Given the description of an element on the screen output the (x, y) to click on. 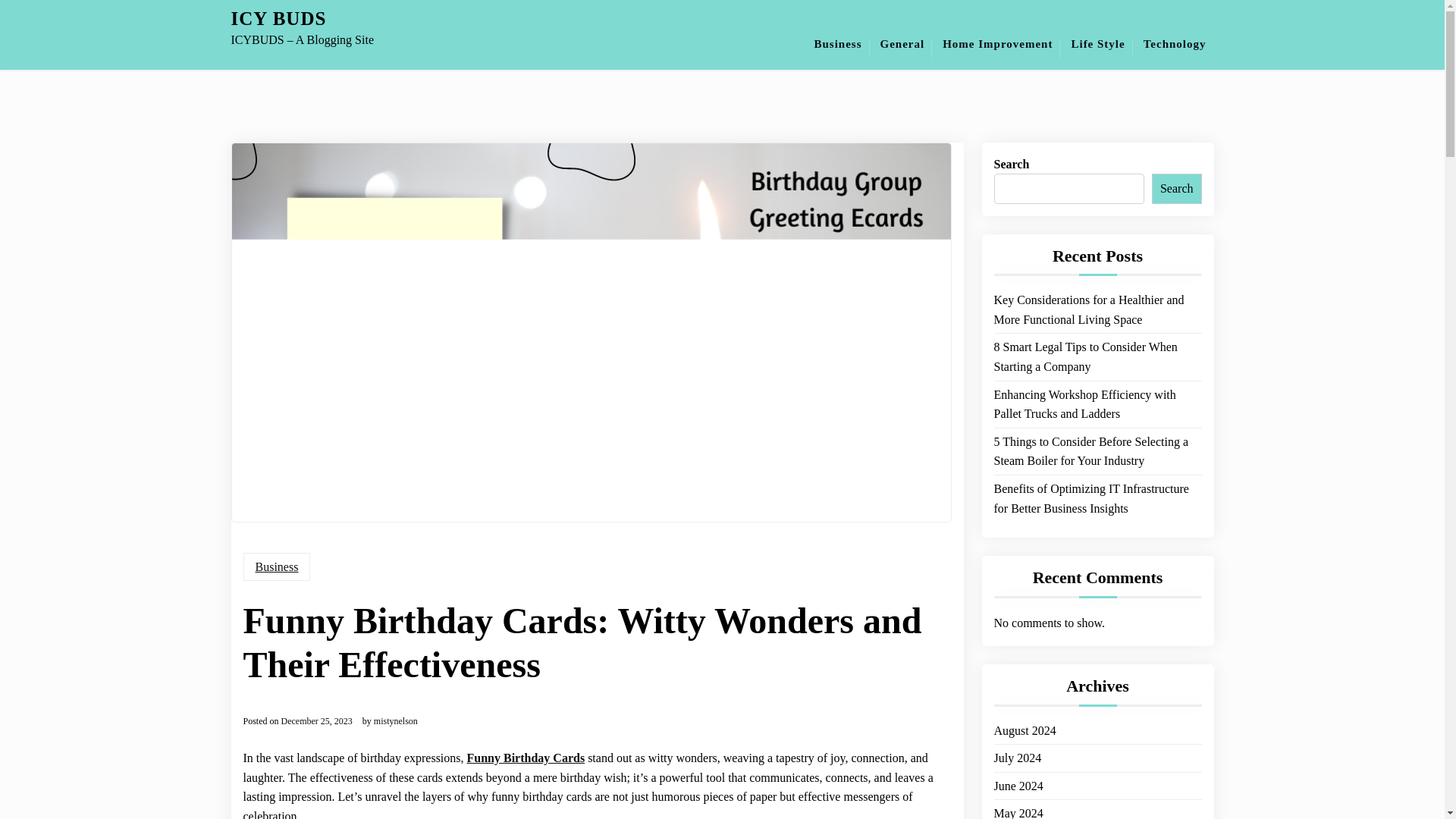
mistynelson (395, 720)
Technology (1174, 43)
General (902, 43)
Business (837, 43)
Home Improvement (996, 43)
December 25, 2023 (316, 720)
Business (276, 566)
ICY BUDS (278, 18)
Life Style (1097, 43)
Funny Birthday Cards (526, 758)
